Given the description of an element on the screen output the (x, y) to click on. 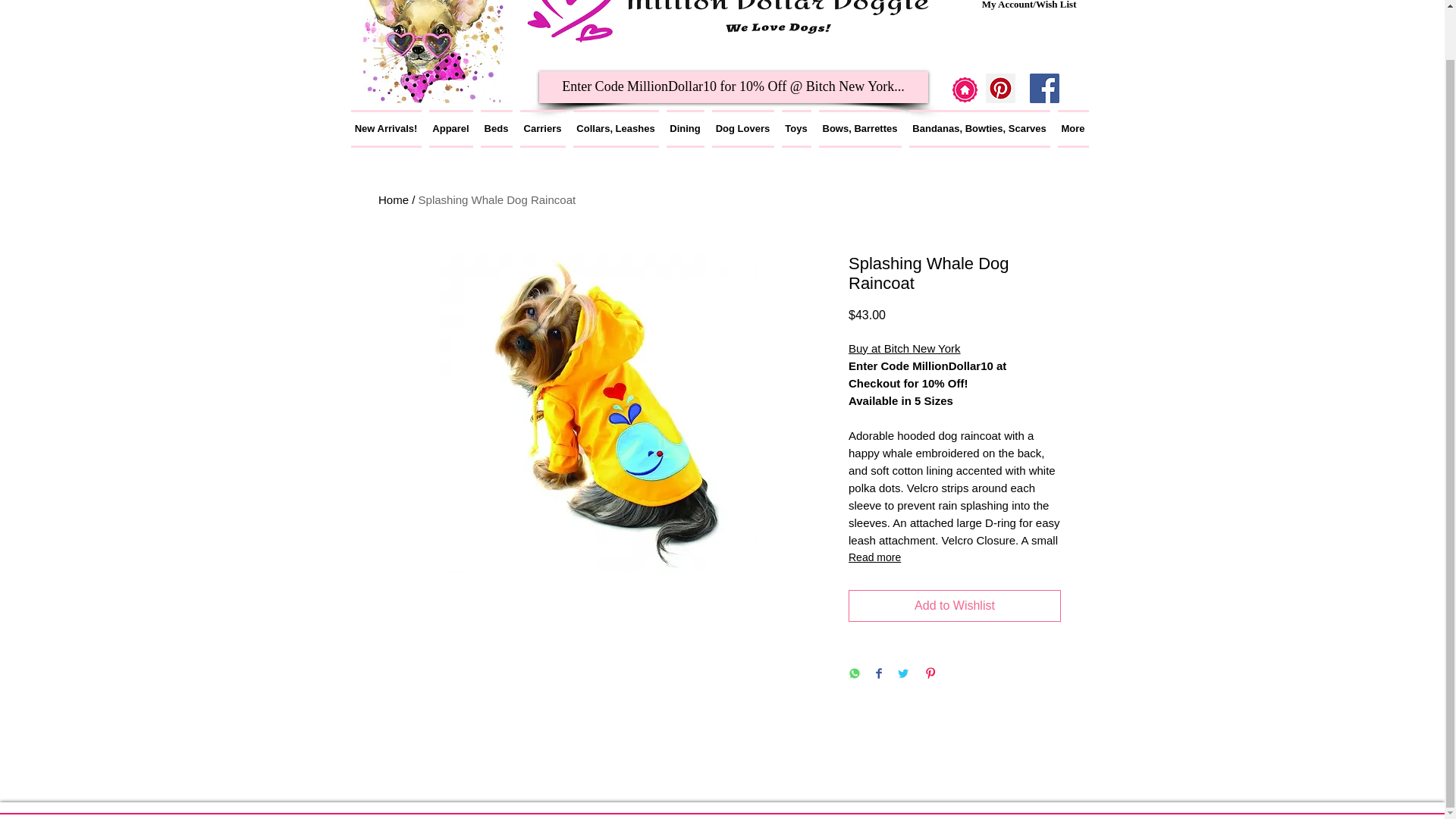
New Arrivals! (387, 128)
We Love Dogs!! (432, 51)
Site Search (732, 55)
